Given the description of an element on the screen output the (x, y) to click on. 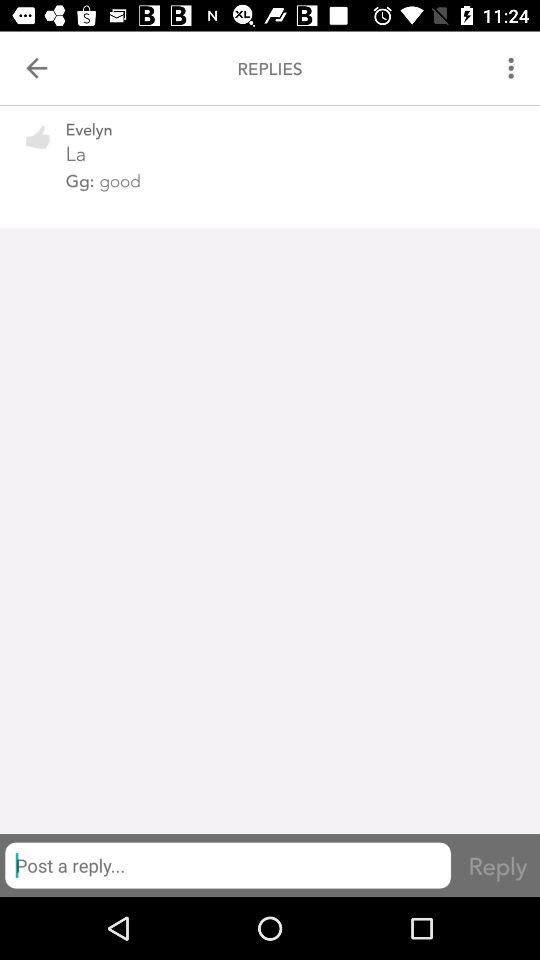
input reply message (227, 865)
